Given the description of an element on the screen output the (x, y) to click on. 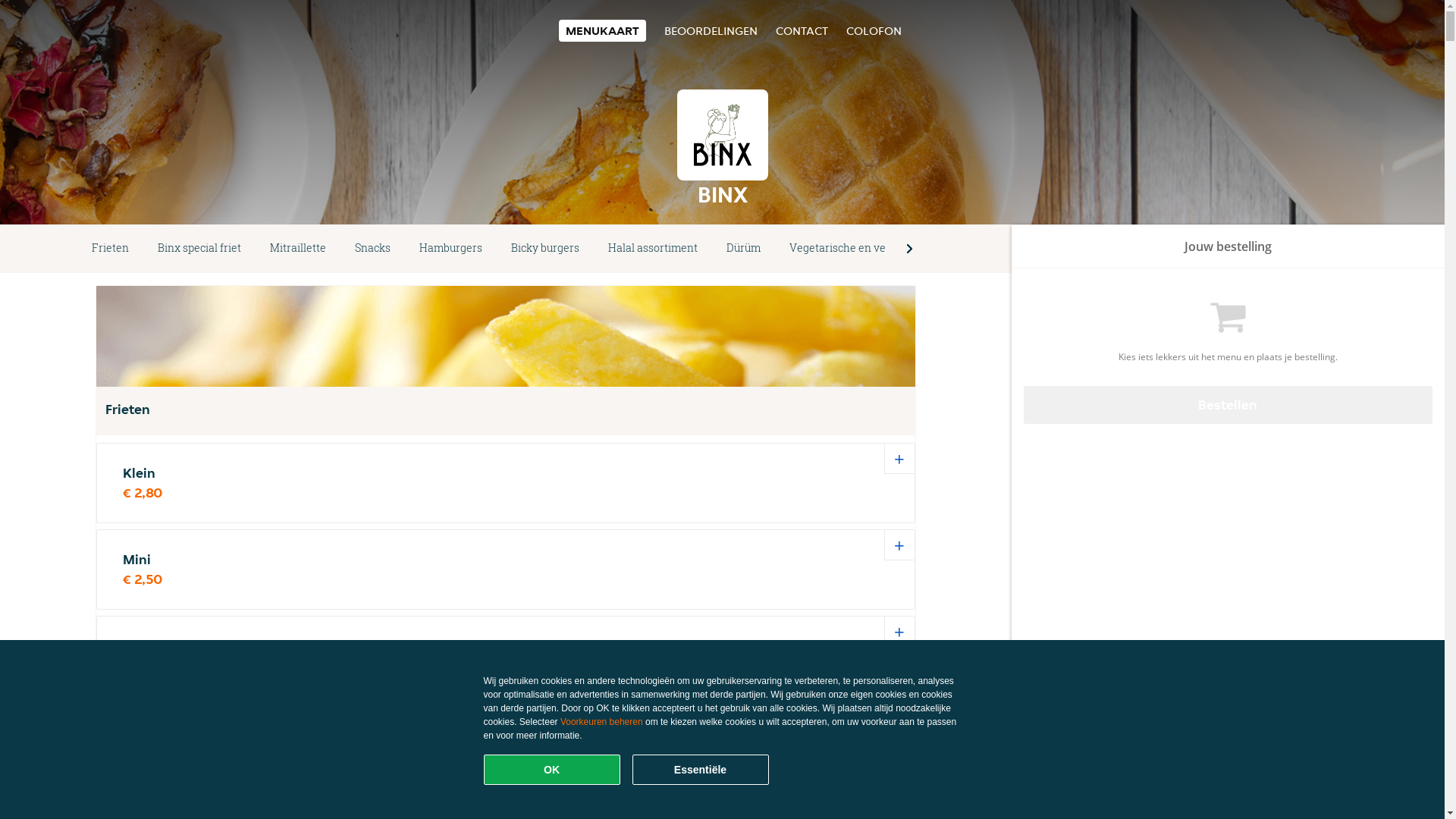
Bicky burgers Element type: text (544, 248)
Frieten Element type: text (110, 248)
CONTACT Element type: text (801, 30)
Snacks Element type: text (372, 248)
COLOFON Element type: text (873, 30)
Vegetarische en vegan snacks Element type: text (865, 248)
MENUKAART Element type: text (601, 30)
Voorkeuren beheren Element type: text (601, 721)
Bestellen Element type: text (1228, 404)
Mitraillette Element type: text (297, 248)
BEOORDELINGEN Element type: text (710, 30)
Halal assortiment Element type: text (652, 248)
Hamburgers Element type: text (450, 248)
Binx special friet Element type: text (199, 248)
OK Element type: text (551, 769)
